Given the description of an element on the screen output the (x, y) to click on. 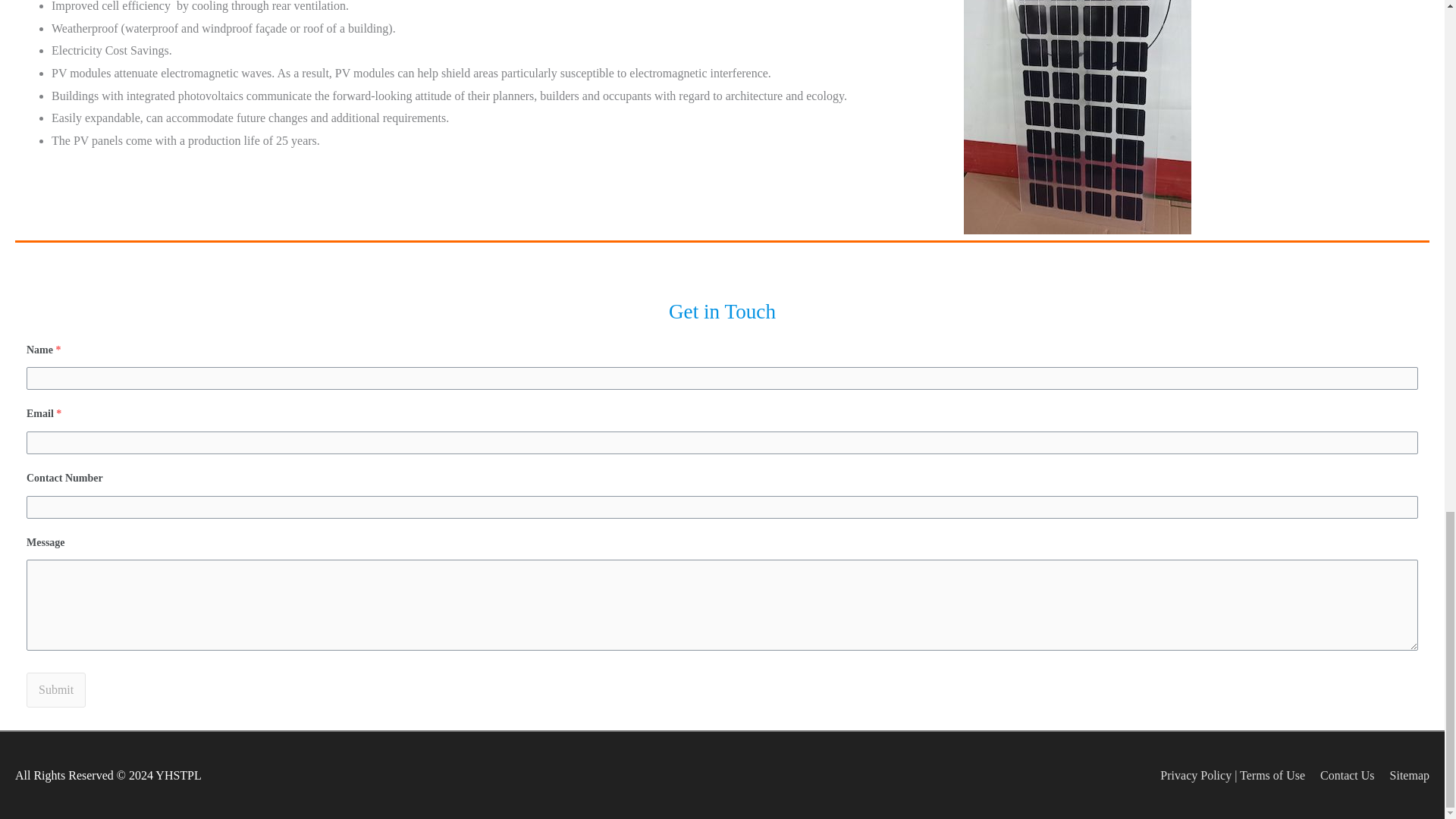
Submit (55, 689)
Sitemap (1403, 775)
Contact Us (1340, 775)
